Given the description of an element on the screen output the (x, y) to click on. 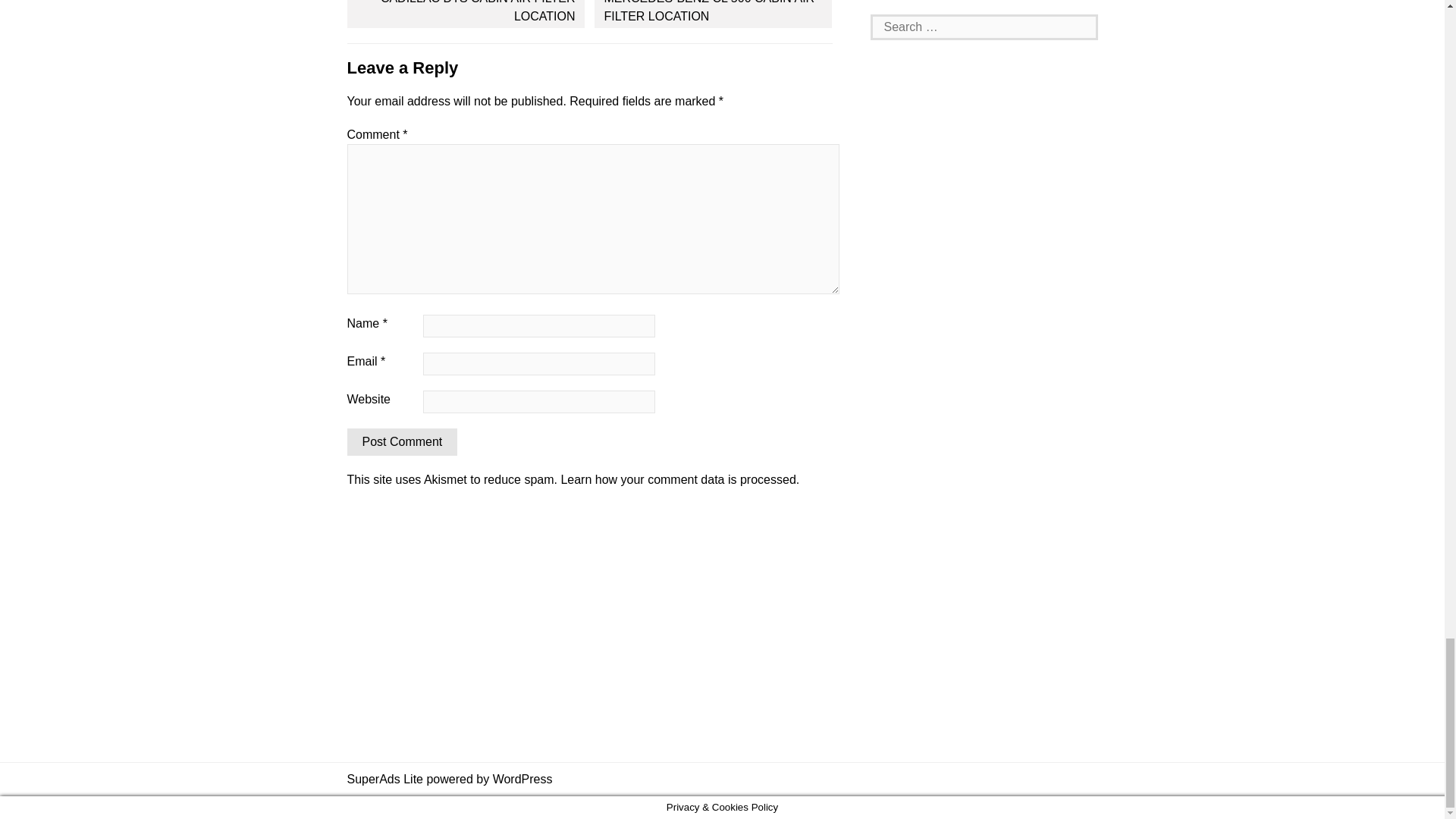
Advertisement (983, 3)
Post Comment (402, 441)
